Given the description of an element on the screen output the (x, y) to click on. 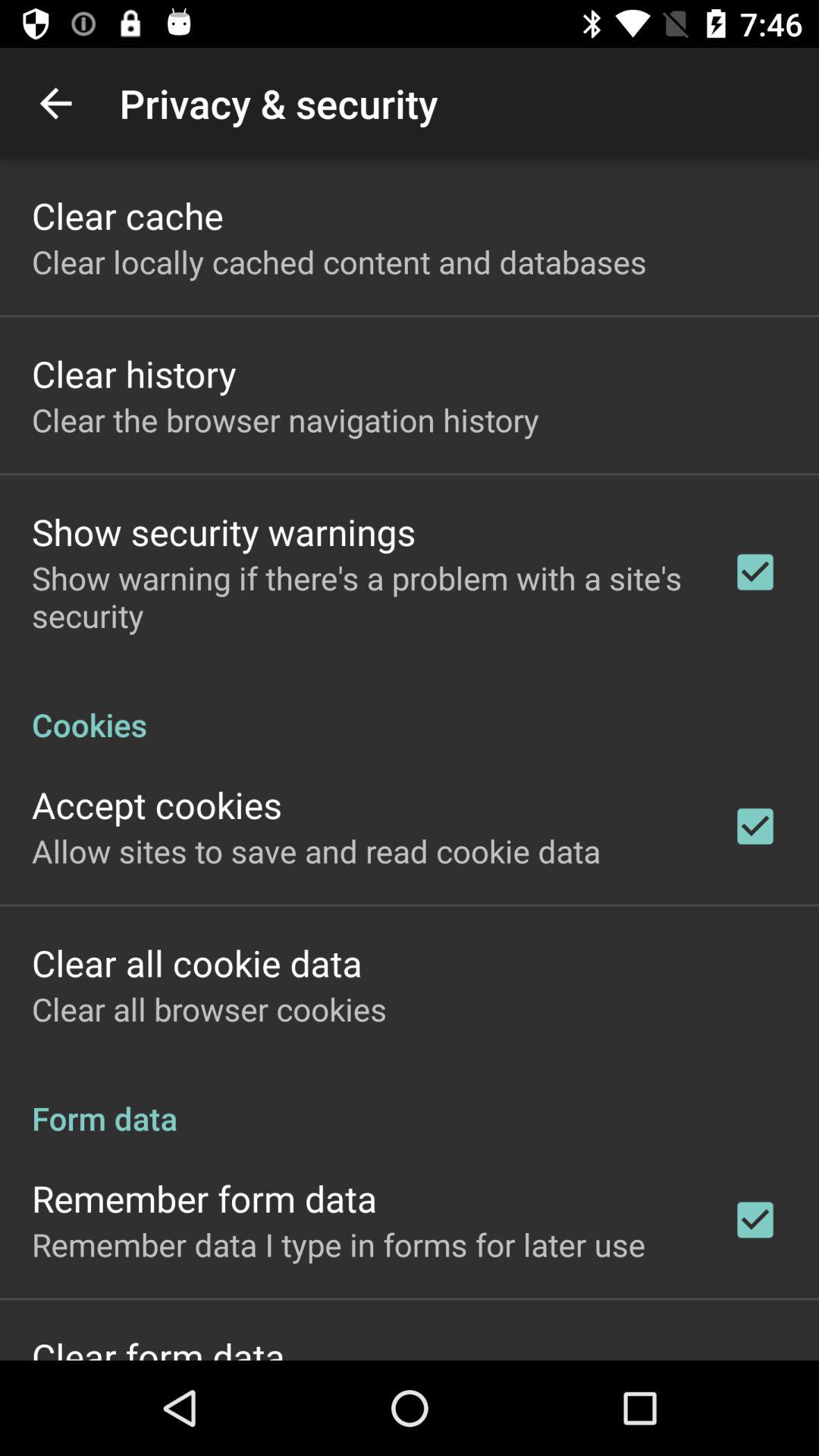
click icon above the clear all cookie icon (315, 850)
